Given the description of an element on the screen output the (x, y) to click on. 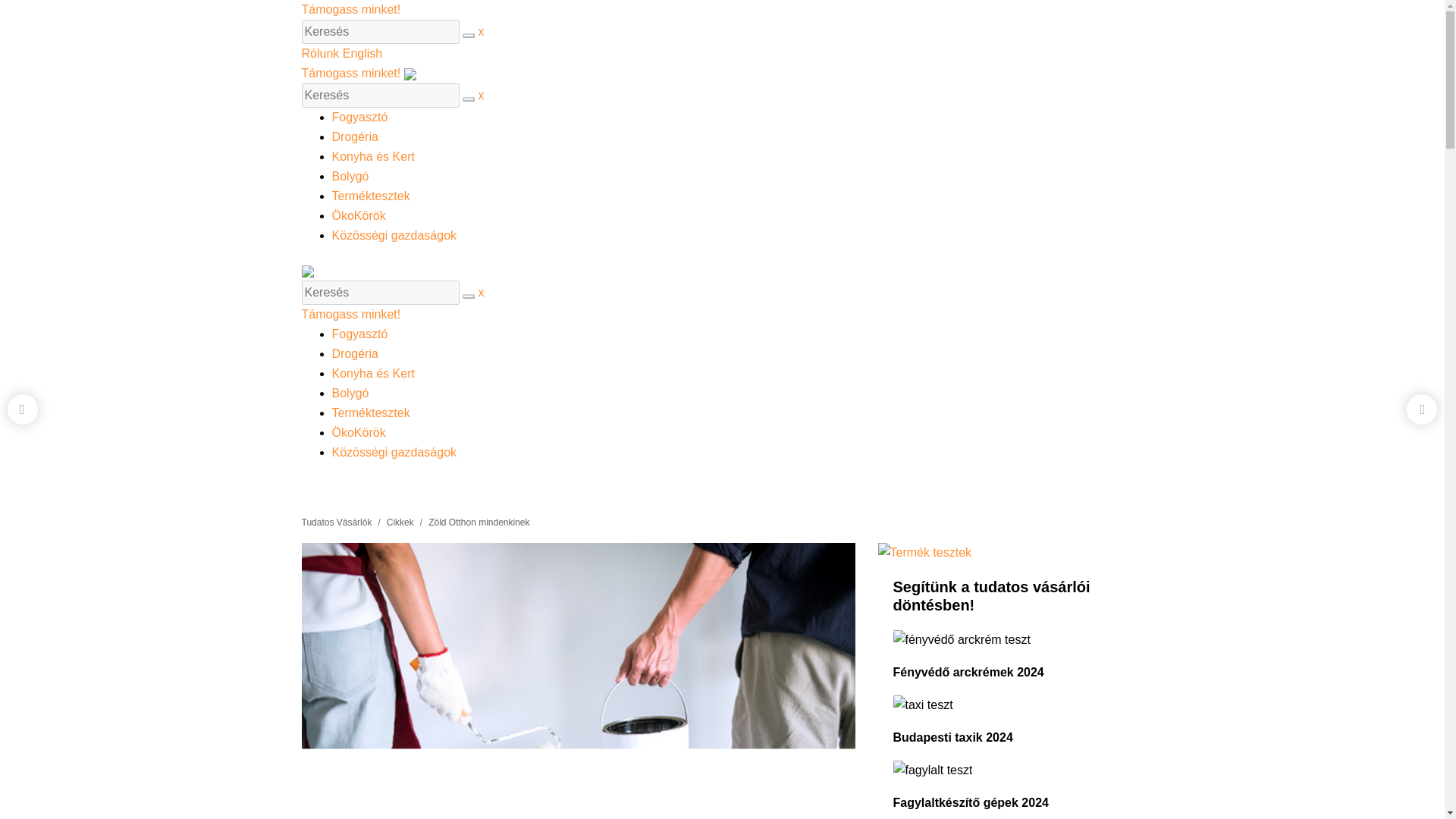
x (721, 95)
Cikkek (400, 521)
x (721, 31)
x (721, 292)
English (361, 52)
x (721, 95)
